Given the description of an element on the screen output the (x, y) to click on. 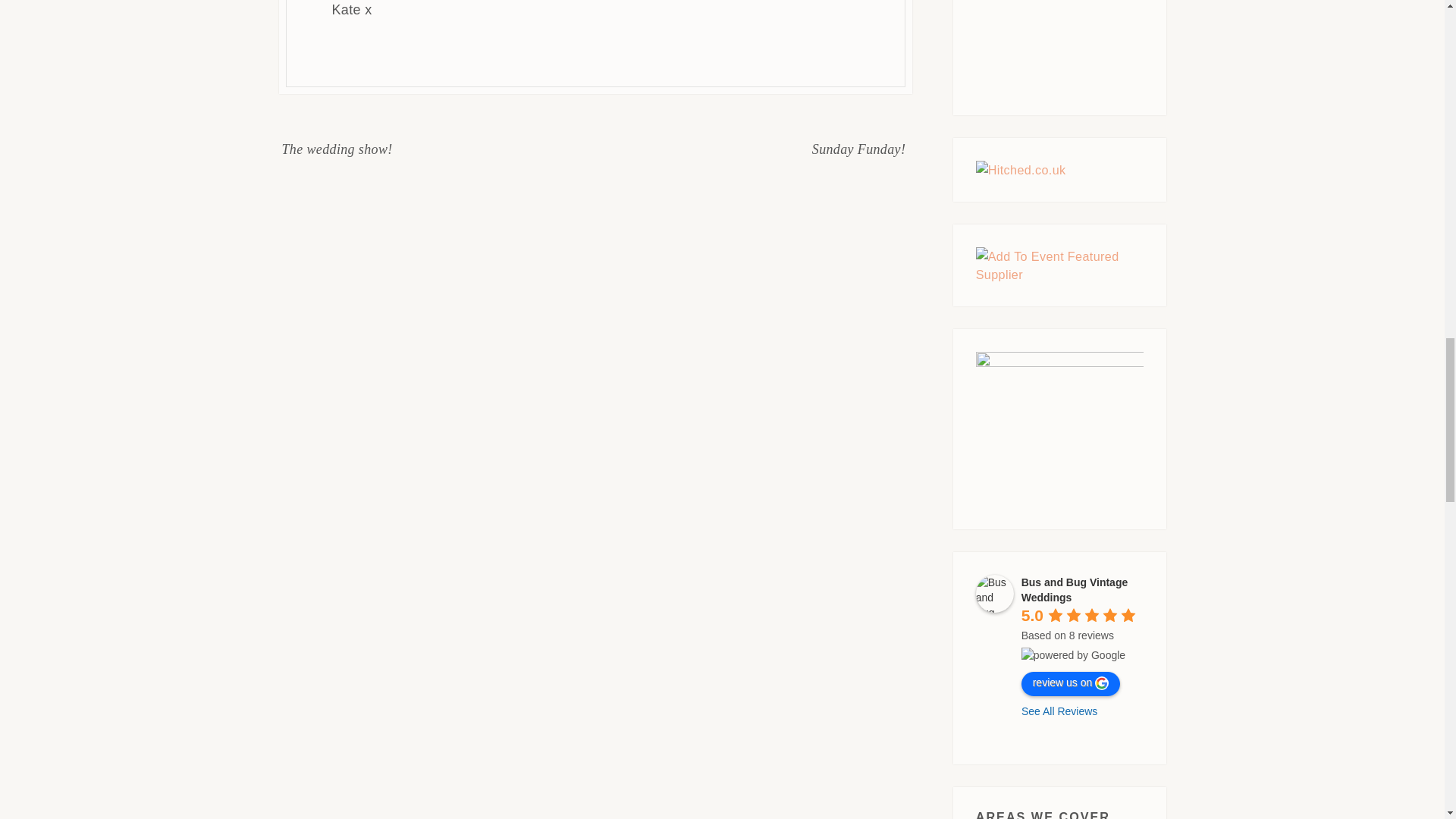
Bus and Bug Vintage Weddings (1075, 589)
The wedding show! (337, 149)
See All Reviews (1058, 711)
powered by Google (1073, 654)
Hitched.co.uk (1020, 169)
review us on (1071, 683)
Bus and Bug Vintage Weddings (994, 593)
Sunday Funday! (858, 149)
